Given the description of an element on the screen output the (x, y) to click on. 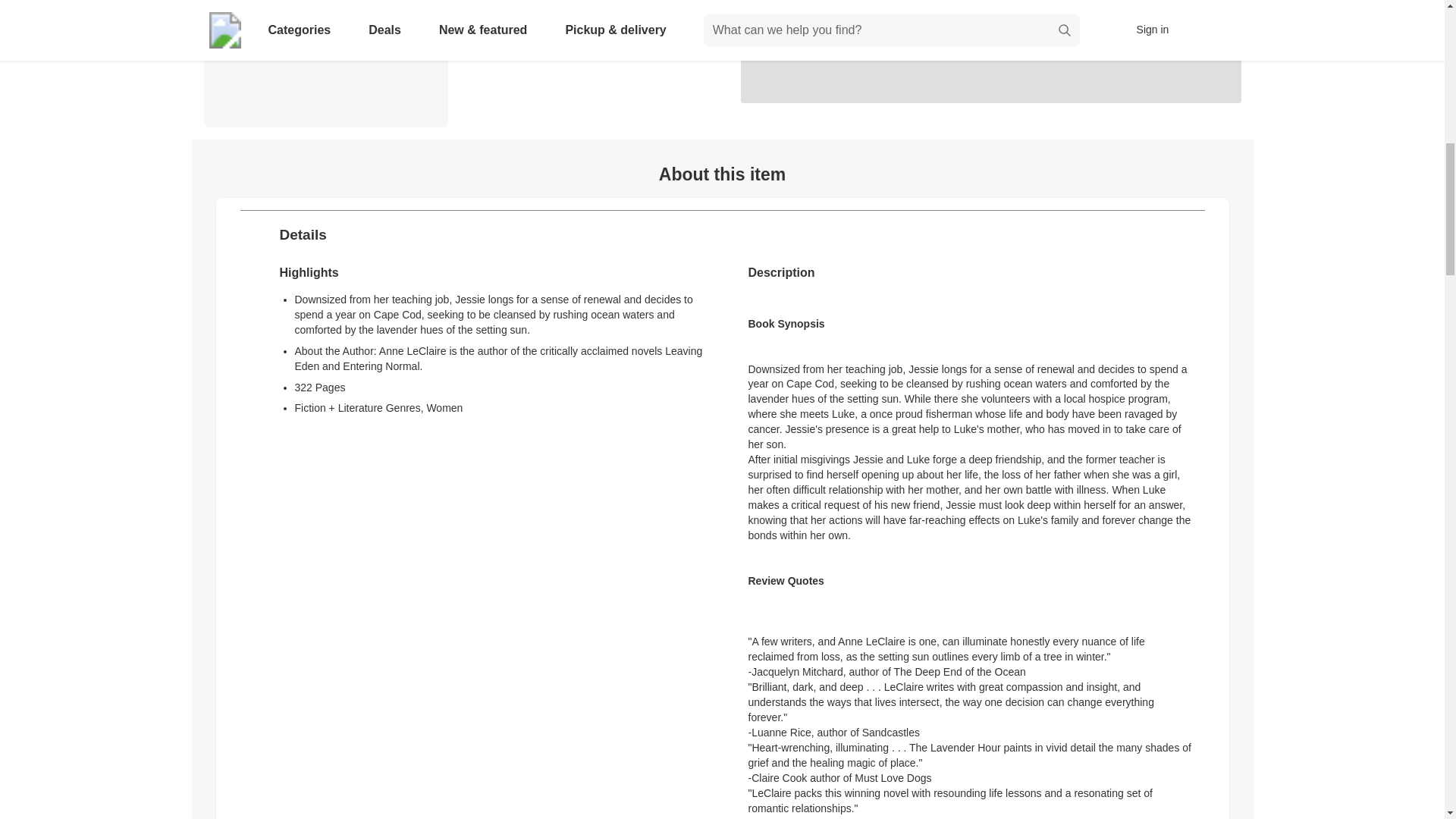
Details (722, 234)
